Given the description of an element on the screen output the (x, y) to click on. 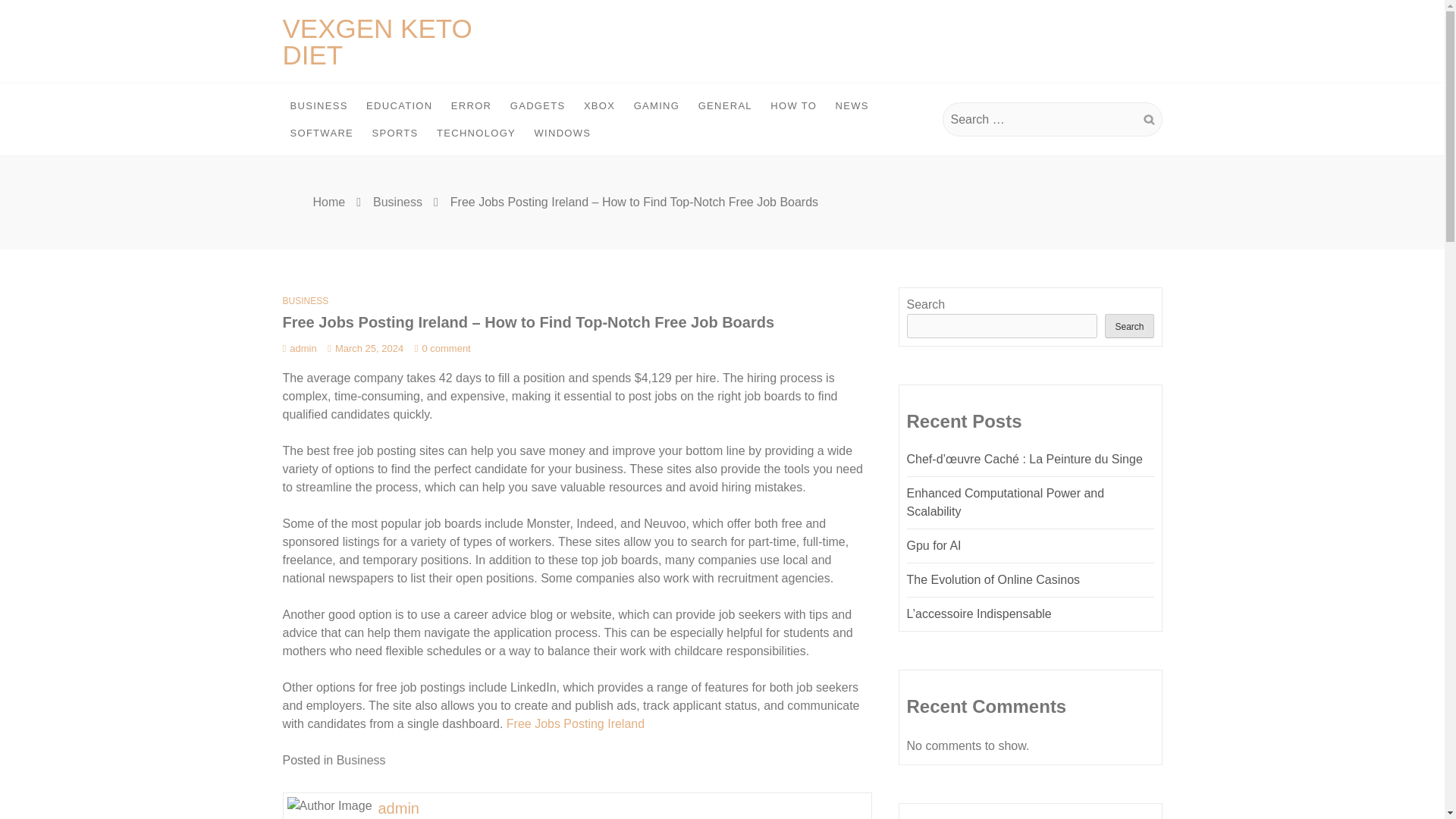
GENERAL (725, 105)
VEXGEN KETO DIET (376, 41)
Gpu for AI (933, 545)
Business (360, 759)
0 comment (442, 348)
SPORTS (395, 133)
admin (298, 348)
ERROR (471, 105)
GADGETS (537, 105)
The Evolution of Online Casinos (993, 579)
Business (397, 201)
NEWS (852, 105)
Search (1148, 119)
TECHNOLOGY (475, 133)
HOW TO (793, 105)
